Given the description of an element on the screen output the (x, y) to click on. 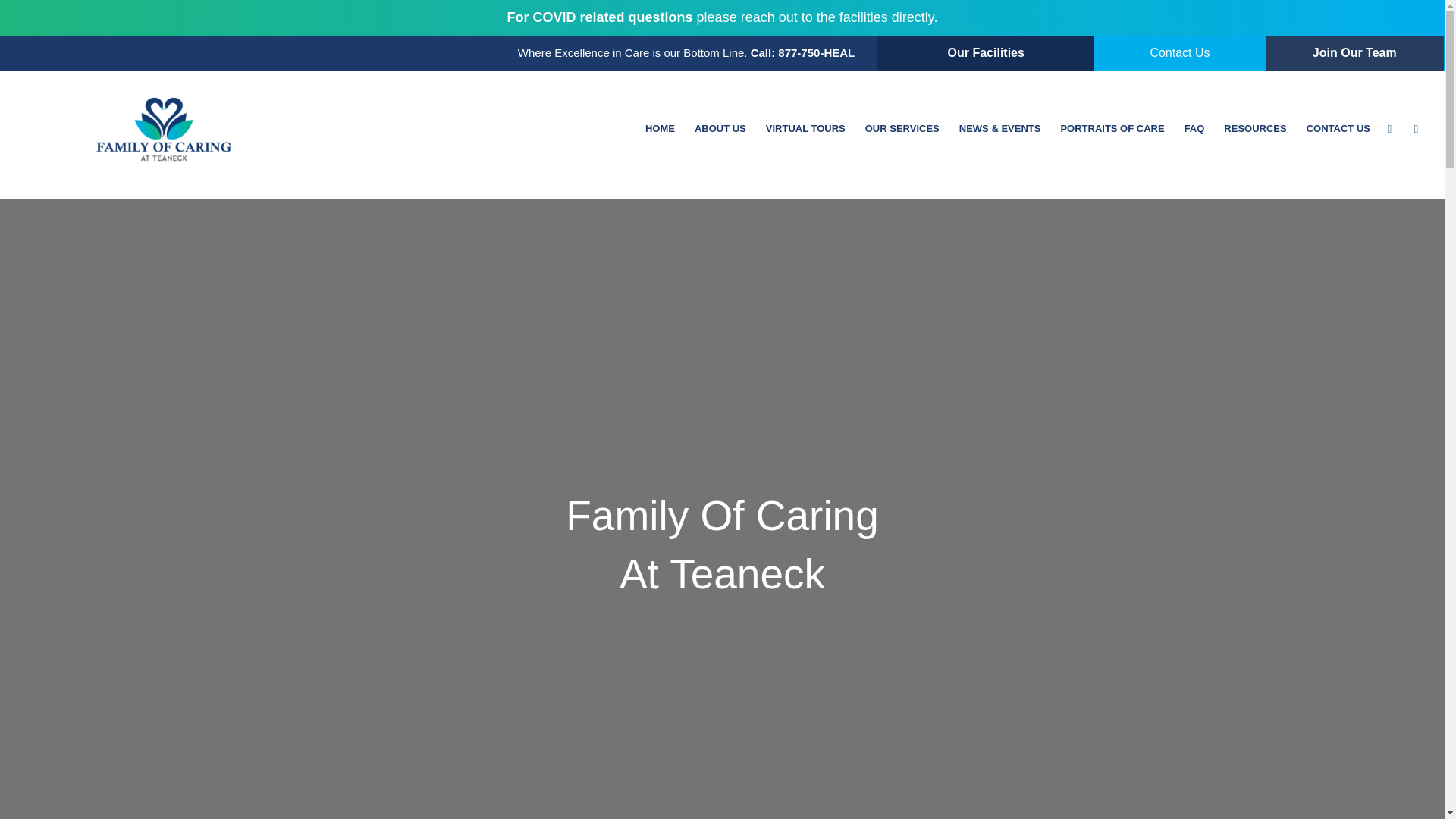
Join Our Team (1354, 51)
Our Facilities (986, 53)
Contact Us (1179, 51)
